Given the description of an element on the screen output the (x, y) to click on. 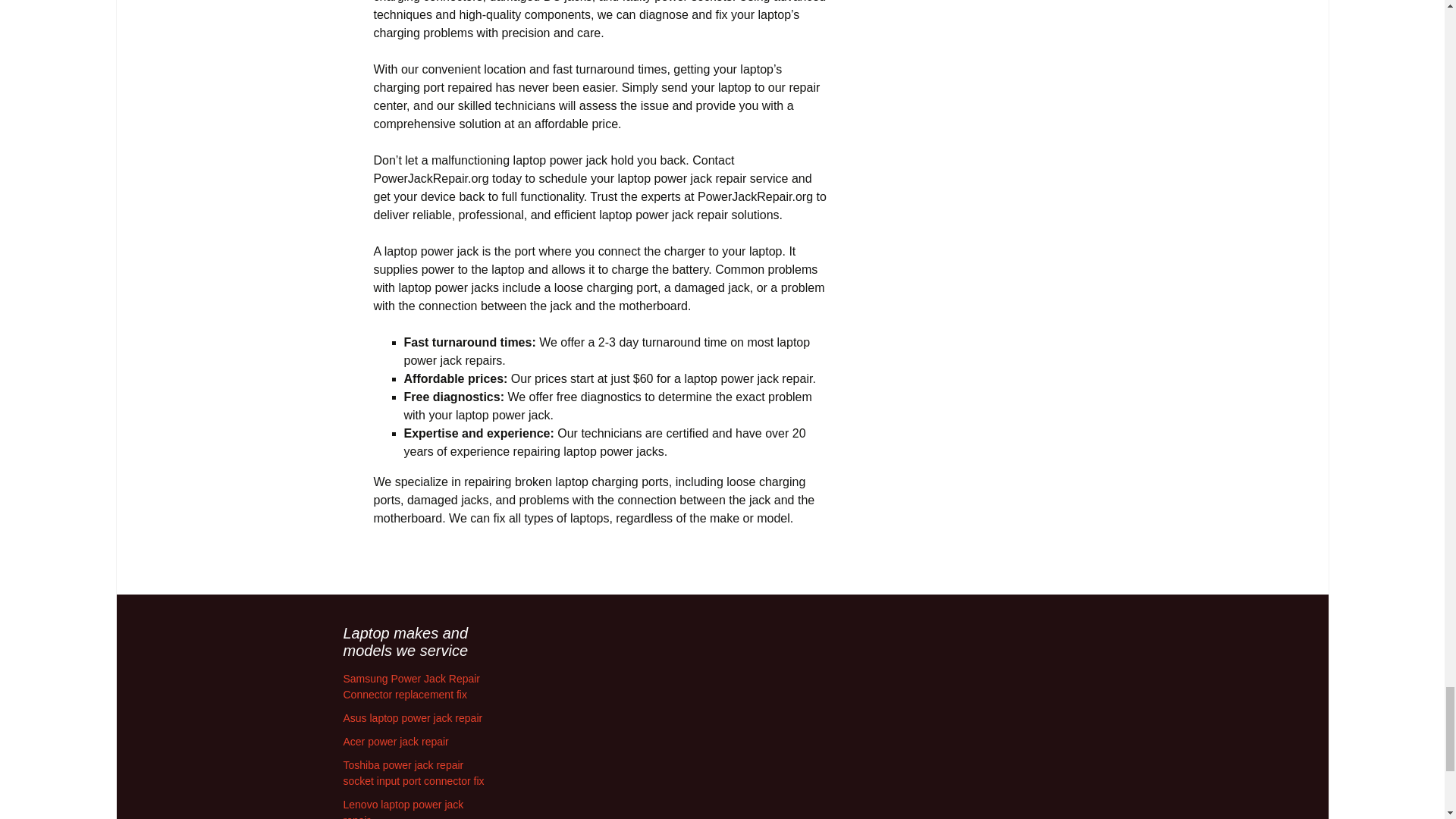
Lenovo laptop power jack repair (402, 808)
Toshiba power jack repair socket input port connector fix (412, 773)
Asus laptop power jack repair (411, 717)
Samsung Power Jack Repair Connector replacement fix (411, 686)
Acer power jack repair (395, 741)
